Given the description of an element on the screen output the (x, y) to click on. 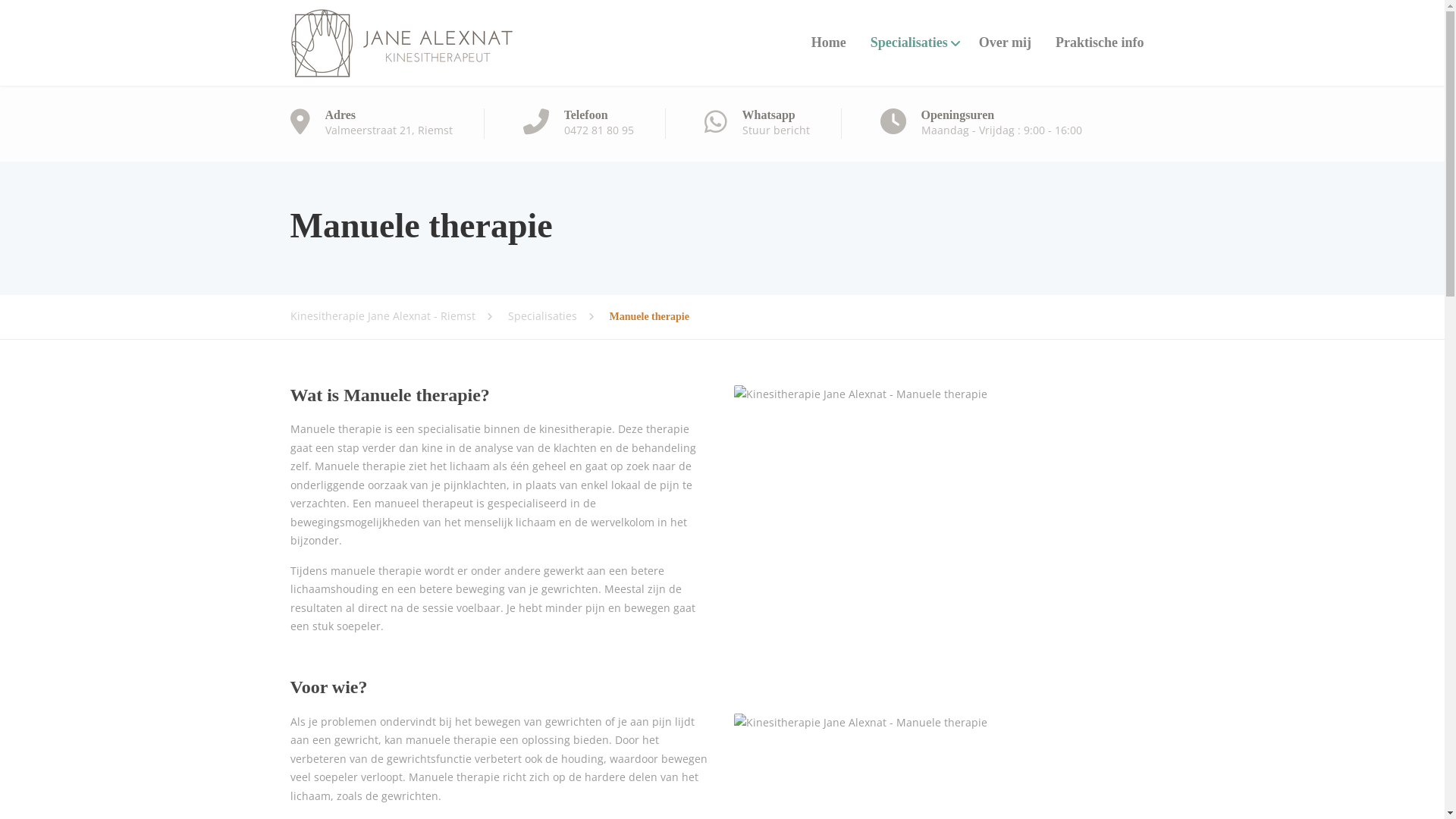
Home Element type: text (828, 42)
Praktische info Element type: text (1099, 42)
Over mij Element type: text (1004, 42)
Specialisaties Element type: text (558, 315)
Kinesitherapie Jane Alexnat - Riemst Element type: text (398, 315)
Specialisaties Element type: text (912, 42)
